Given the description of an element on the screen output the (x, y) to click on. 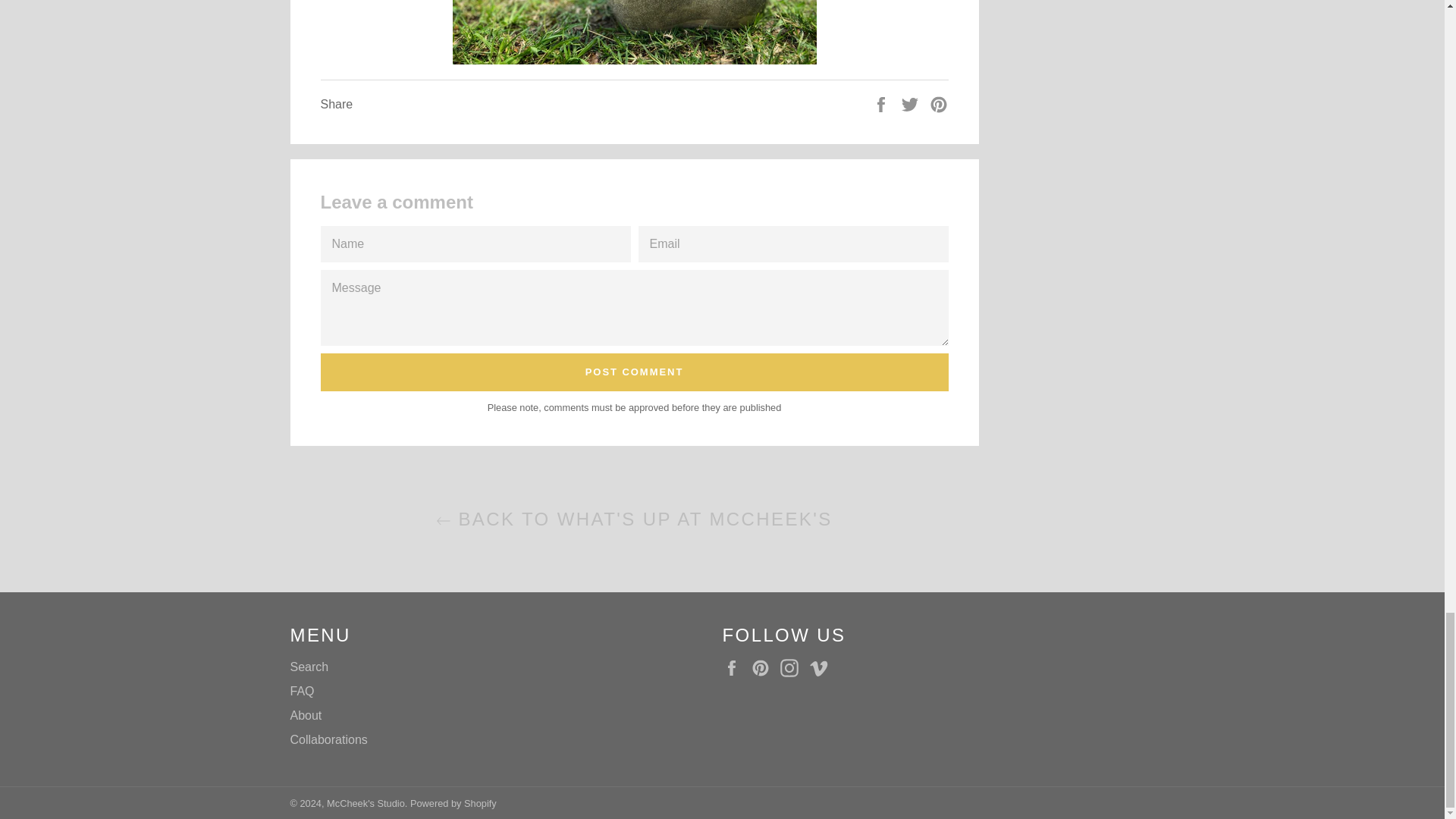
McCheek's Studio on Pinterest (764, 668)
McCheek's Studio on Vimeo (822, 668)
Share on Facebook (882, 103)
Tweet on Twitter (911, 103)
Tweet on Twitter (911, 103)
Pin on Pinterest (938, 103)
McCheek's Studio on Facebook (735, 668)
Pin on Pinterest (938, 103)
Post comment (633, 371)
McCheek's Studio on Instagram (793, 668)
Share on Facebook (882, 103)
